Given the description of an element on the screen output the (x, y) to click on. 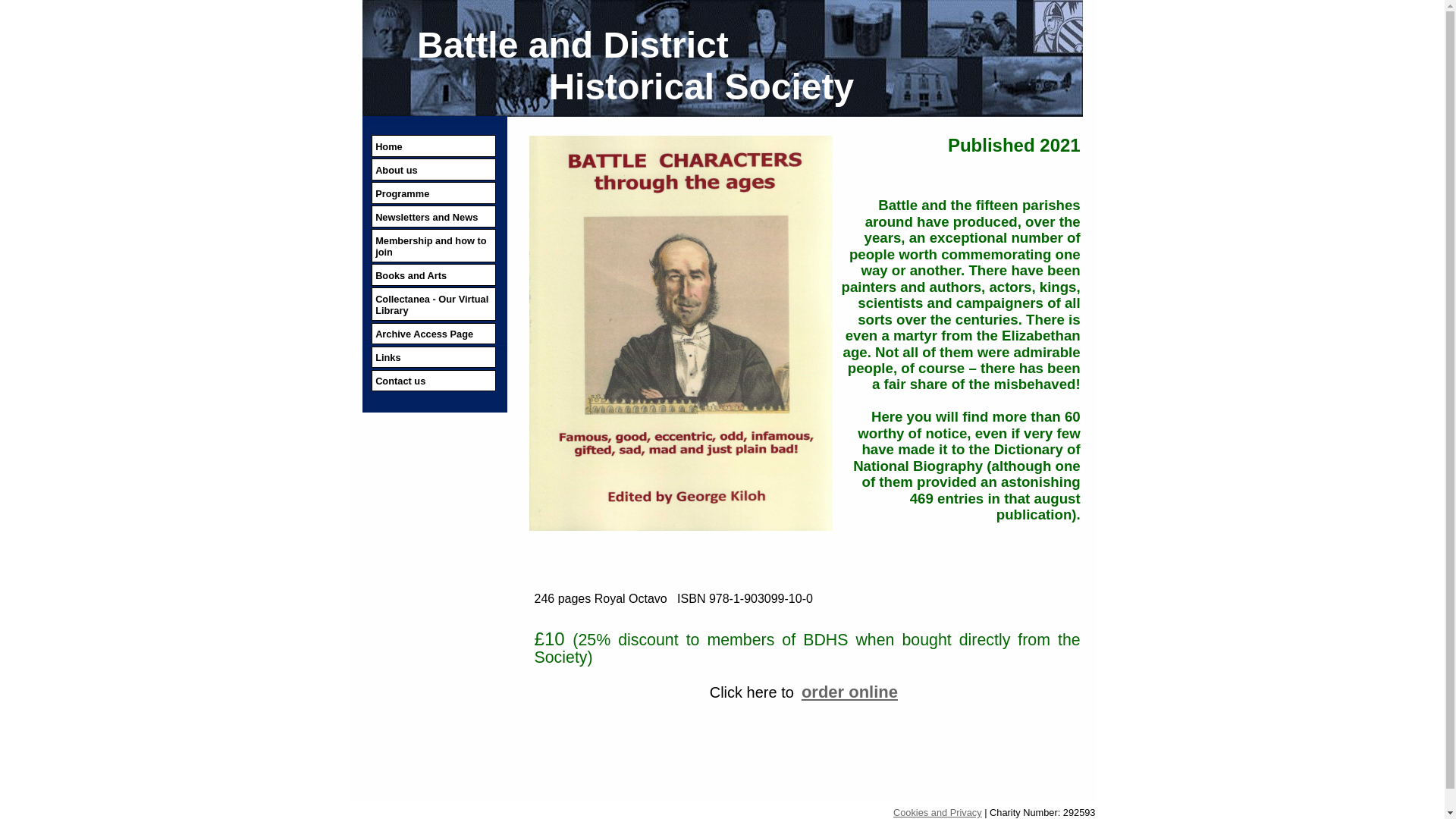
Archive Access Page (432, 333)
Contact us (432, 381)
About us (432, 168)
Collectanea - Our Virtual Library (432, 304)
Contact us (432, 381)
Links (432, 357)
Links (432, 357)
Home (432, 145)
Programme (432, 192)
Collectanea - Our Virtual Library (432, 304)
About us (432, 168)
Archive Access Page (432, 333)
Home (432, 145)
Membership and how to join (432, 245)
Books and Arts (432, 274)
